Given the description of an element on the screen output the (x, y) to click on. 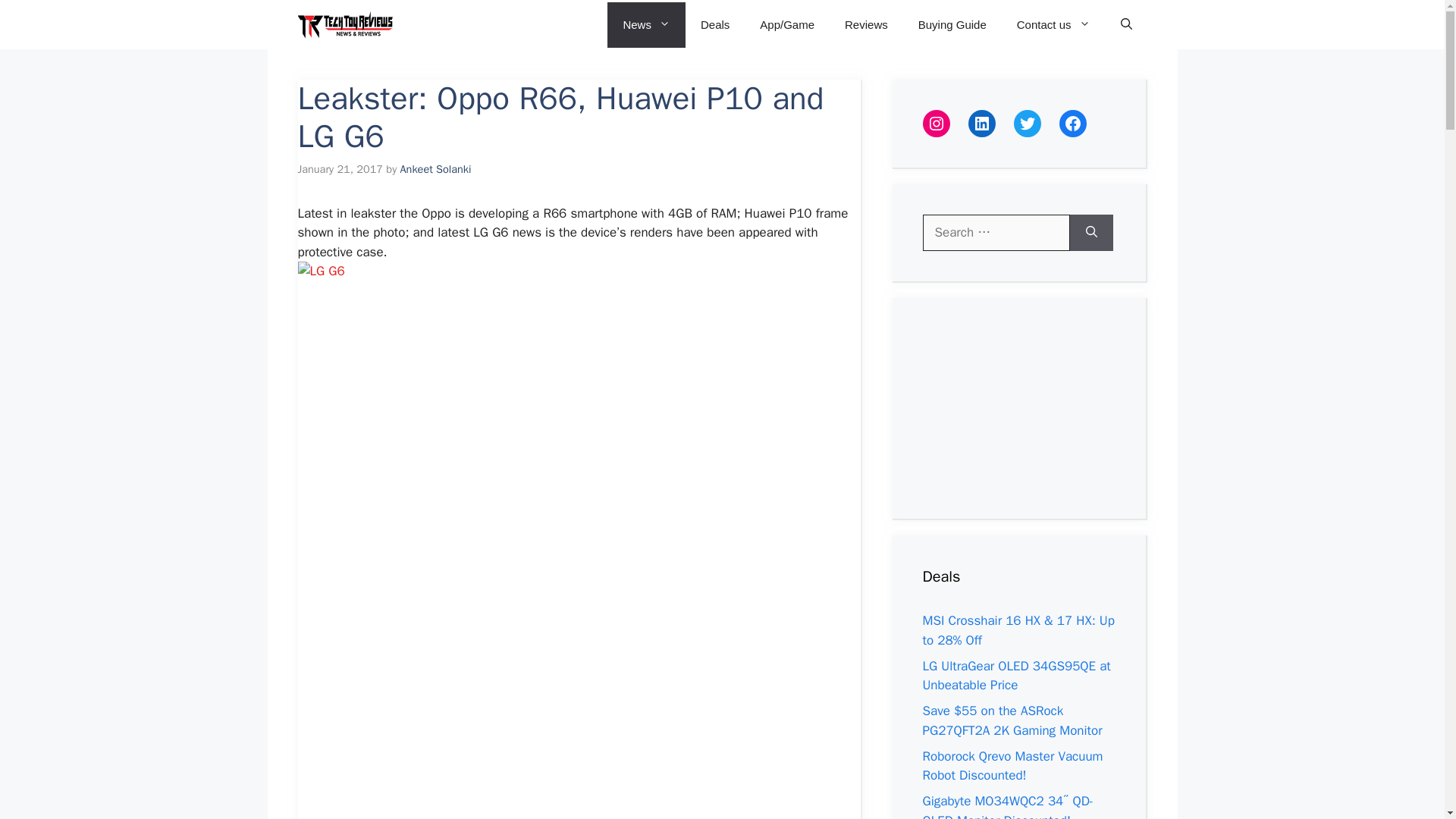
Technology News, Reviews and Buying Guides (344, 24)
View all posts by Ankeet Solanki (435, 169)
Search for: (994, 232)
News (646, 23)
